Given the description of an element on the screen output the (x, y) to click on. 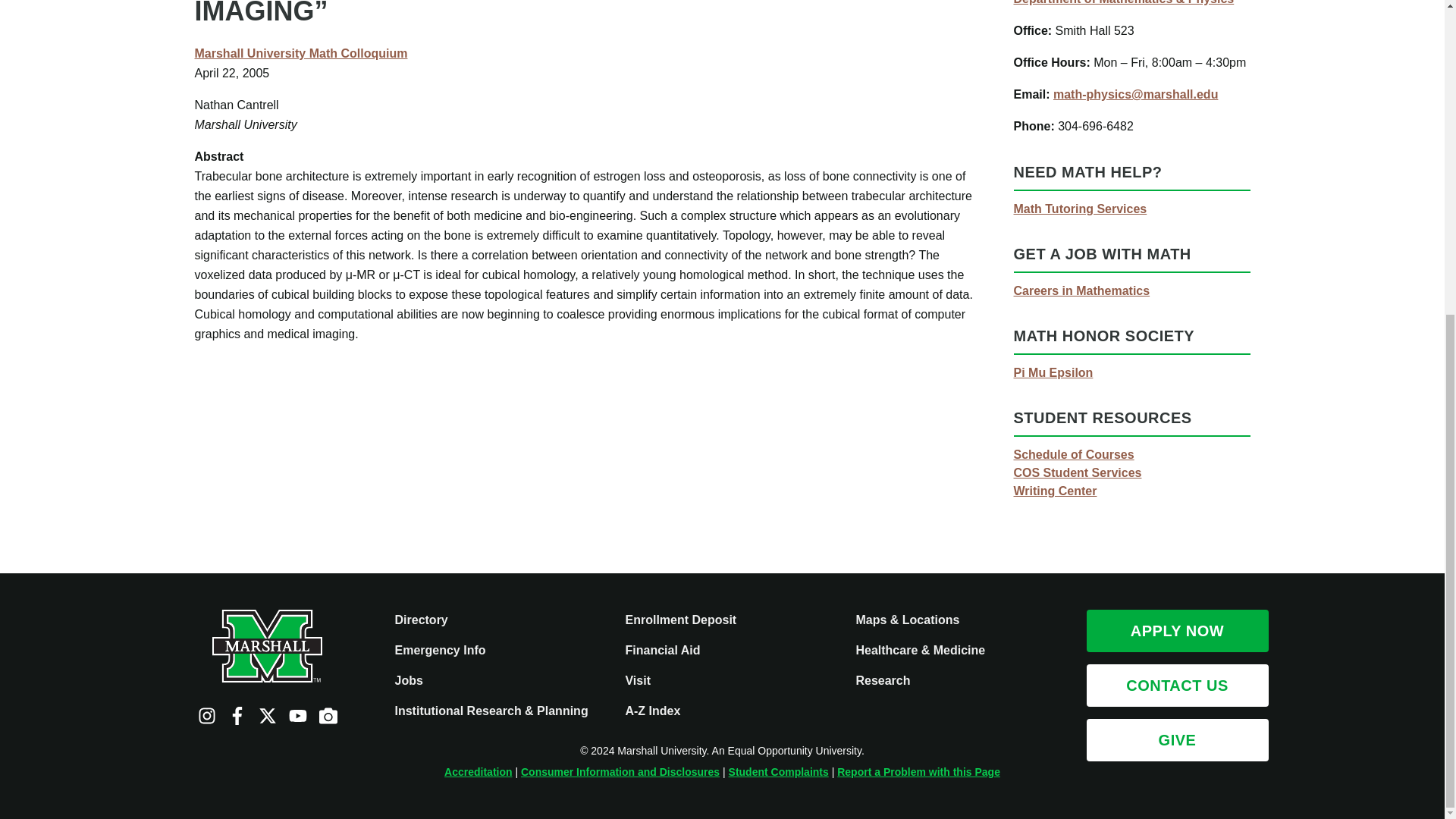
Get Math Help! (1080, 208)
